Given the description of an element on the screen output the (x, y) to click on. 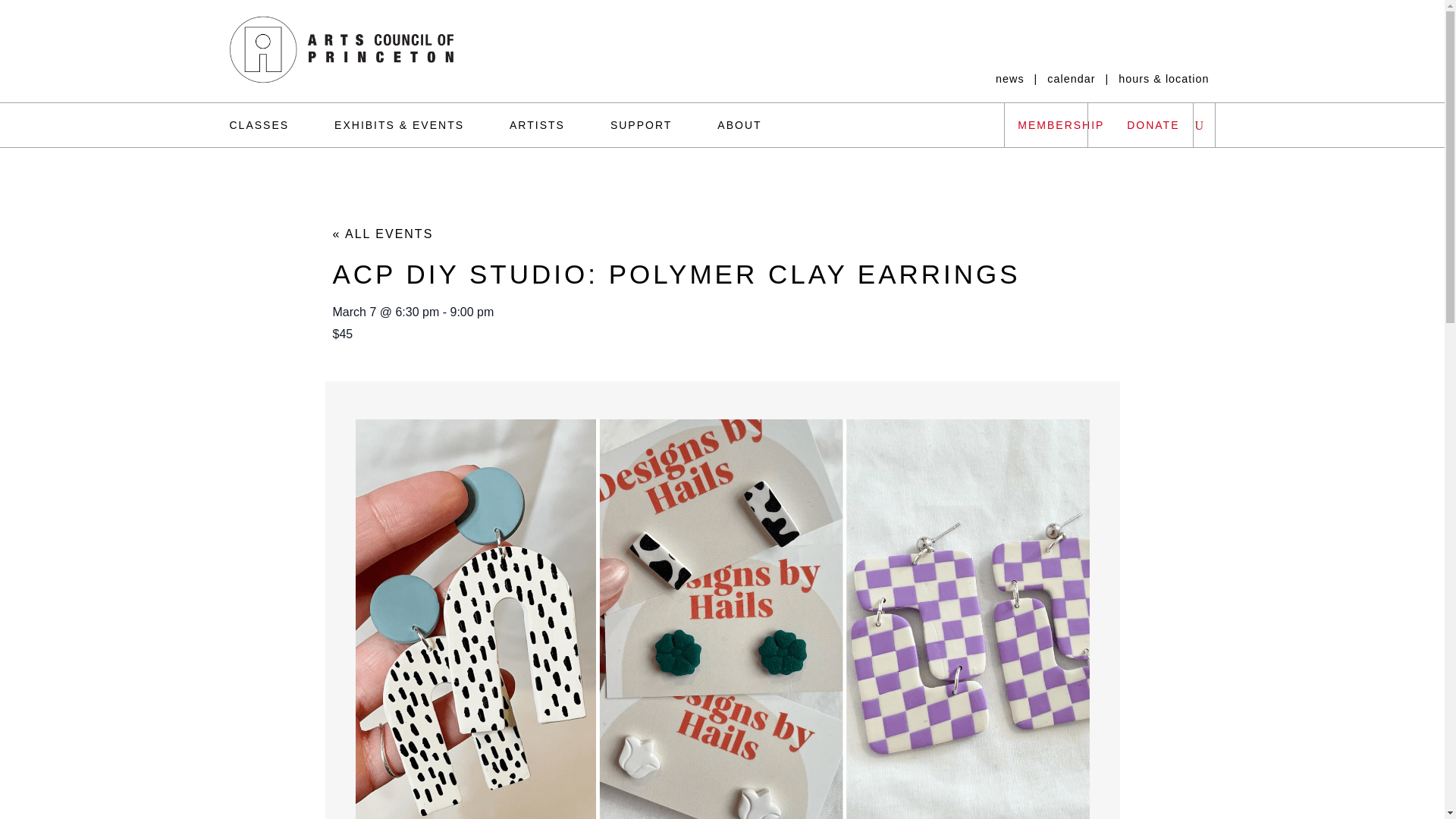
news (1010, 78)
calendar (1070, 78)
CLASSES (269, 125)
ARTISTS (537, 125)
